Given the description of an element on the screen output the (x, y) to click on. 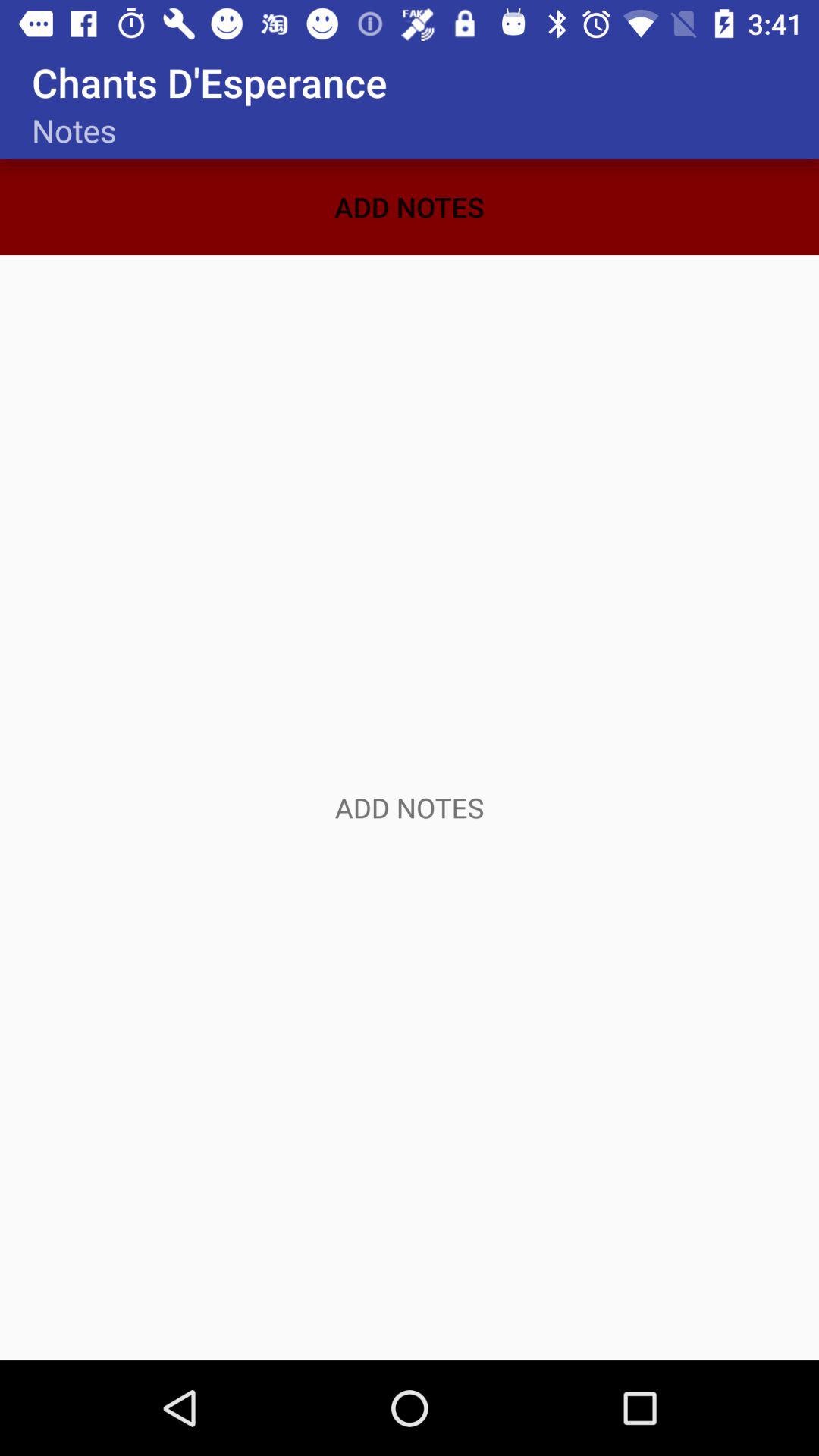
click here to add information (409, 807)
